Given the description of an element on the screen output the (x, y) to click on. 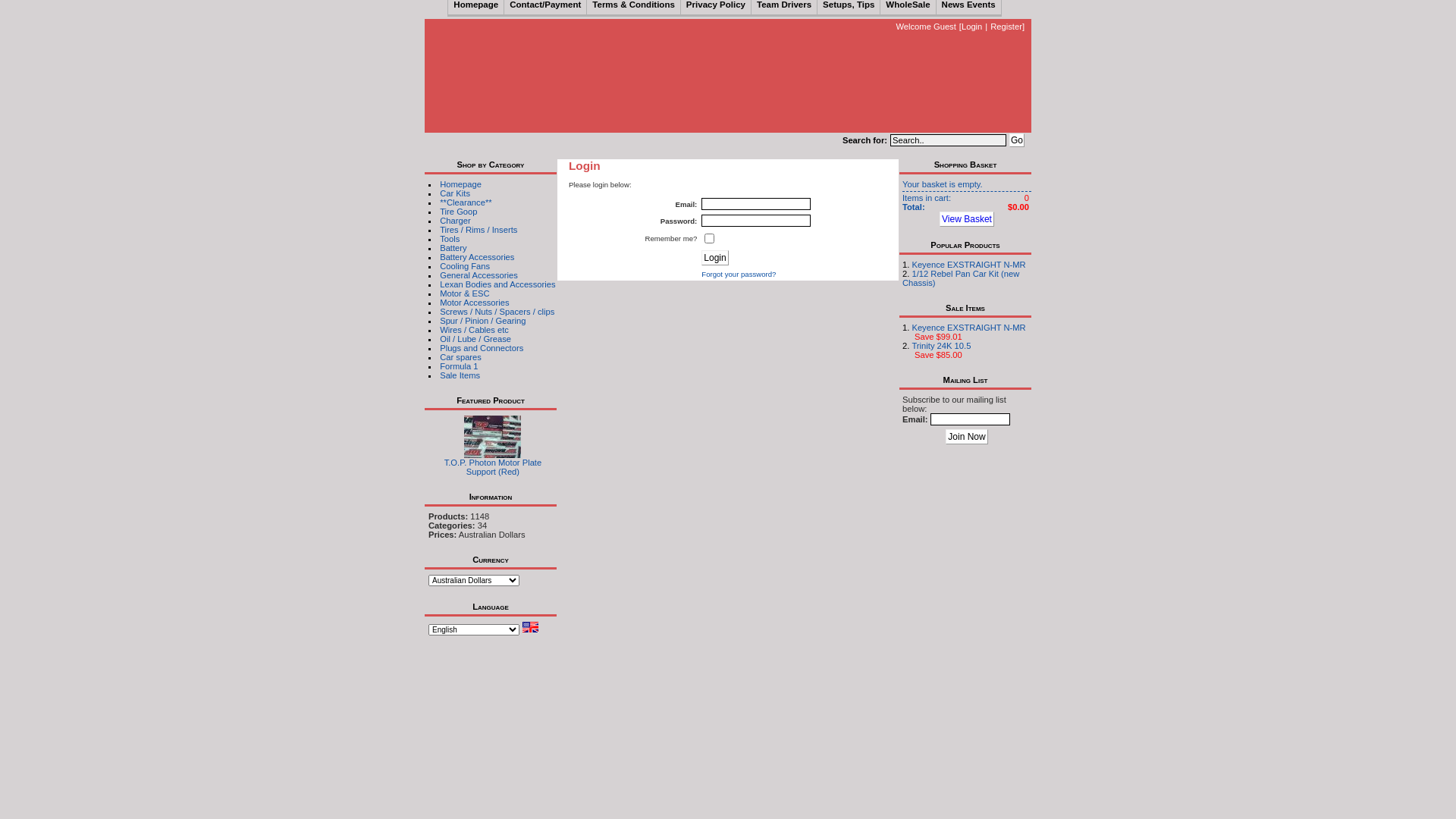
Tires / Rims / Inserts Element type: text (478, 229)
Lexan Bodies and Accessories Element type: text (497, 283)
Battery Accessories Element type: text (476, 256)
Screws / Nuts / Spacers / clips Element type: text (496, 311)
Spur / Pinion / Gearing Element type: text (482, 320)
Go Element type: text (1016, 140)
Motor Accessories Element type: text (473, 302)
**Clearance** Element type: text (465, 202)
Wires / Cables etc Element type: text (473, 329)
Car Kits Element type: text (454, 192)
Login Element type: text (971, 26)
1/12 Rebel Pan Car Kit (new Chassis) Element type: text (960, 278)
Oil / Lube / Grease Element type: text (475, 338)
Motor & ESC Element type: text (464, 293)
Forgot your password? Element type: text (738, 273)
Register Element type: text (1006, 26)
Keyence EXSTRAIGHT N-MR Element type: text (968, 327)
General Accessories Element type: text (478, 274)
Tire Goop Element type: text (457, 211)
View Basket Element type: text (966, 218)
Car spares Element type: text (460, 356)
Plugs and Connectors Element type: text (481, 347)
T.O.P. Photon Motor Plate Support (Red) Element type: hover (492, 436)
Cooling Fans Element type: text (464, 265)
Tools Element type: text (449, 238)
Battery Element type: text (452, 247)
Charger Element type: text (454, 220)
T.O.P. Photon Motor Plate Support (Red) Element type: hover (492, 453)
Keyence EXSTRAIGHT N-MR Element type: text (968, 264)
Join Now Element type: text (966, 436)
Trinity 24K 10.5 Element type: text (940, 345)
Formula 1 Element type: text (458, 365)
T.O.P. Photon Motor Plate Support (Red) Element type: text (493, 467)
Login Element type: text (714, 257)
Homepage Element type: text (460, 183)
Sale Items Element type: text (459, 374)
